Given the description of an element on the screen output the (x, y) to click on. 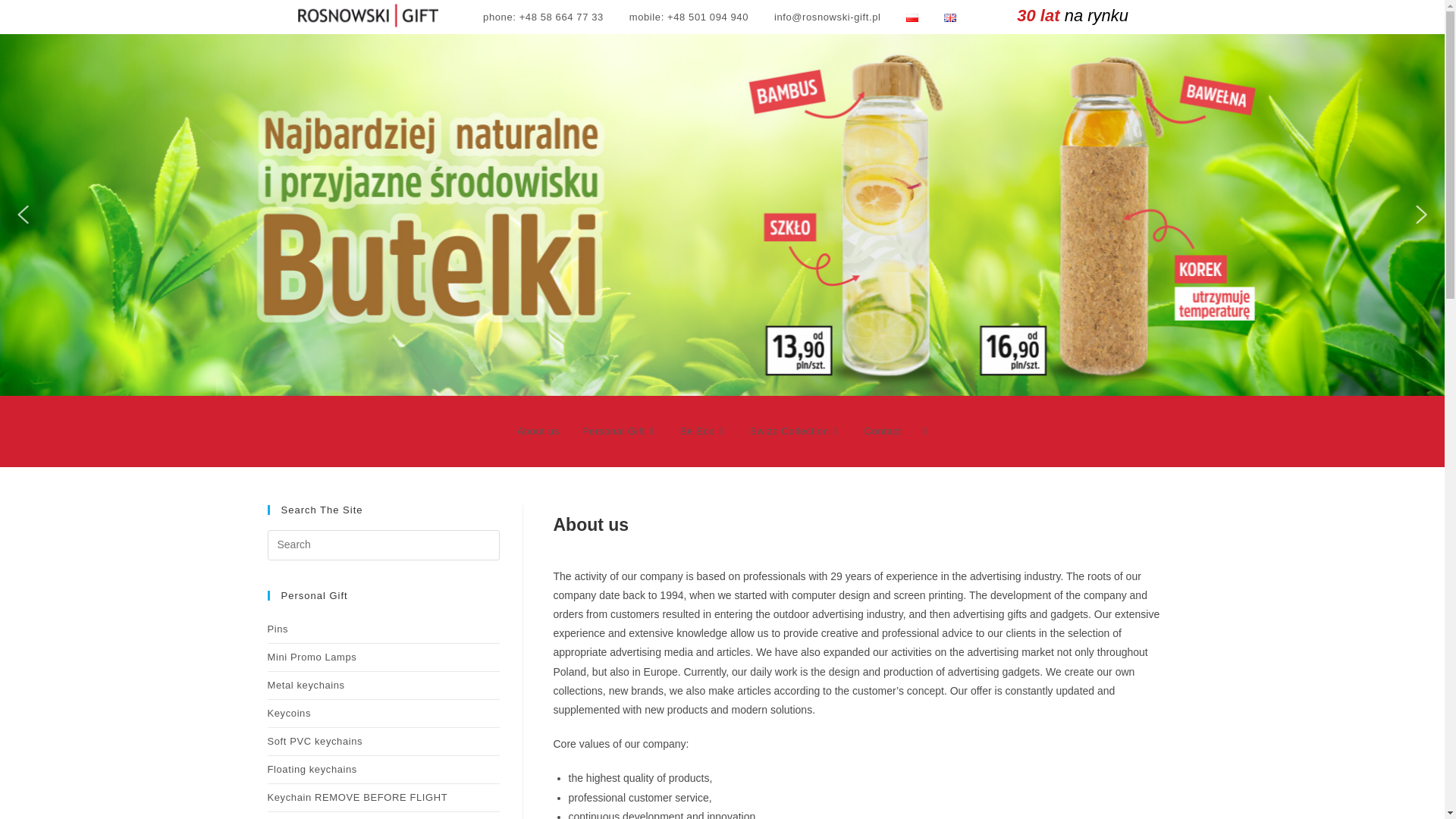
Be Eco (703, 431)
About us (537, 431)
Rosnowski-Gift-Logo (367, 15)
Personal Gift (619, 431)
